Given the description of an element on the screen output the (x, y) to click on. 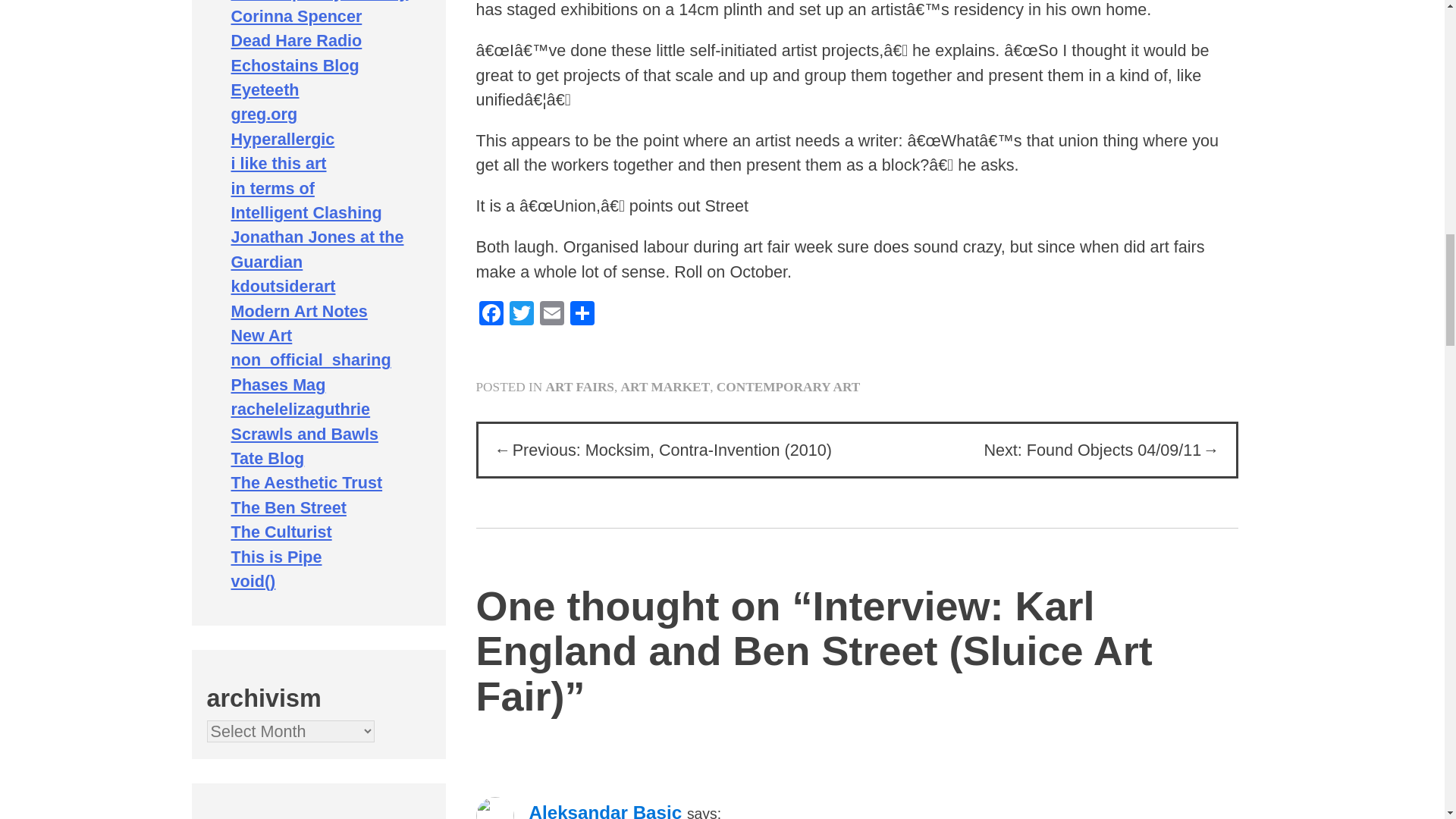
Twitter (521, 315)
ART FAIRS (580, 386)
Email (552, 315)
Twitter (521, 315)
CONTEMPORARY ART (788, 386)
Aleksandar Basic (605, 810)
ART MARKET (665, 386)
Facebook (491, 315)
Email (552, 315)
Facebook (491, 315)
